Given the description of an element on the screen output the (x, y) to click on. 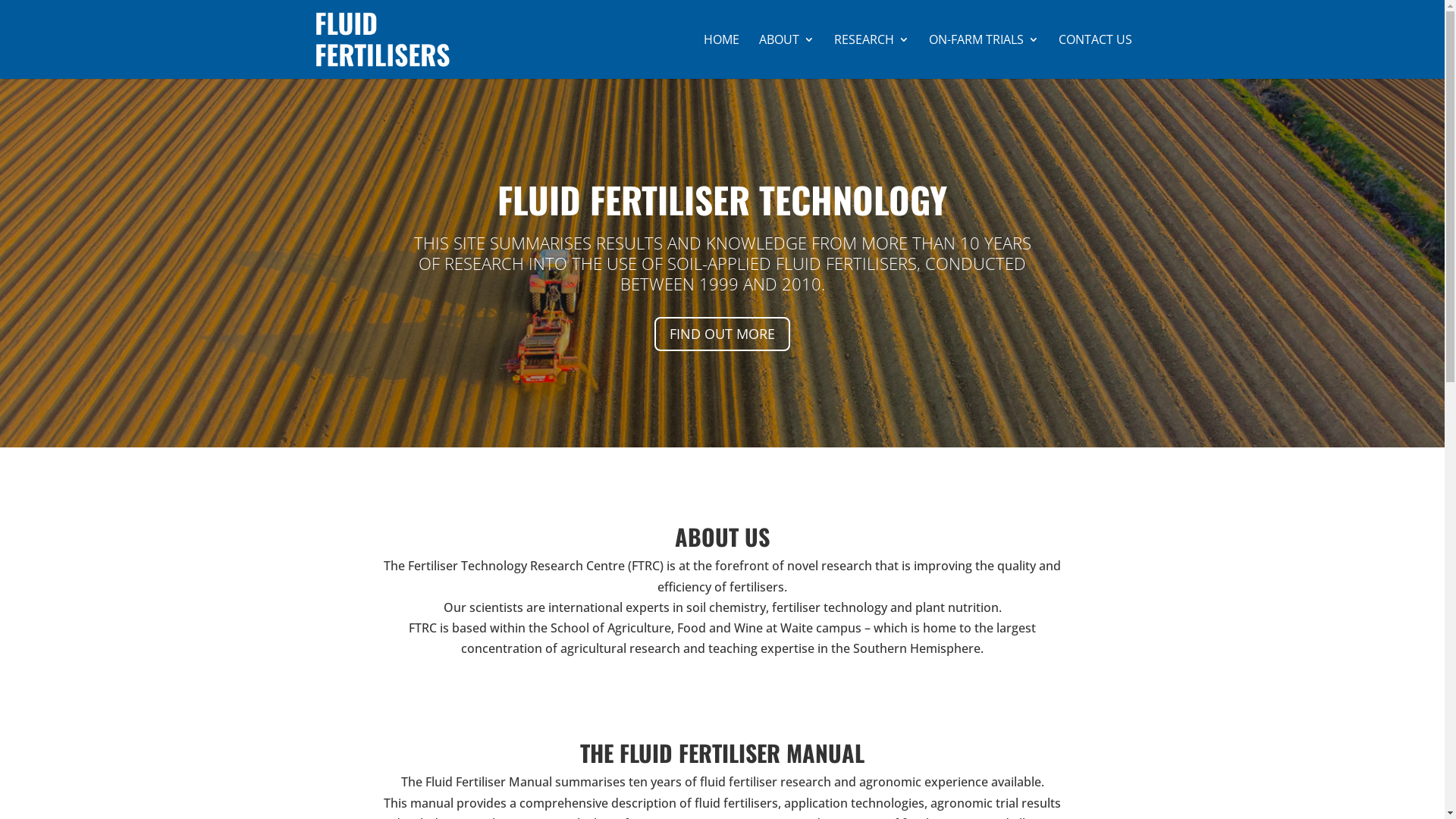
FIND OUT MORE Element type: text (722, 333)
CONTACT US Element type: text (1095, 56)
HOME Element type: text (721, 56)
ABOUT Element type: text (785, 56)
RESEARCH Element type: text (871, 56)
ON-FARM TRIALS Element type: text (983, 56)
